Given the description of an element on the screen output the (x, y) to click on. 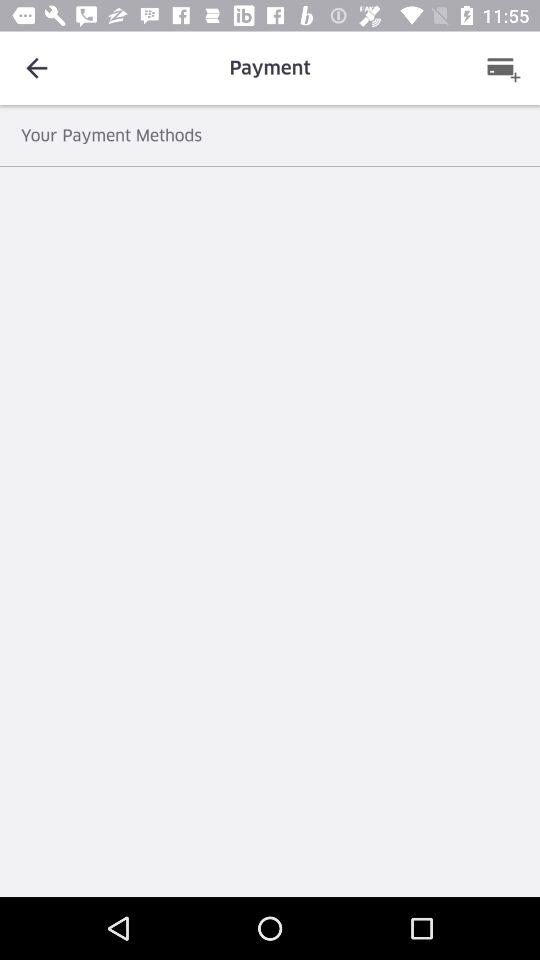
select the icon above the your payment methods icon (36, 68)
